Given the description of an element on the screen output the (x, y) to click on. 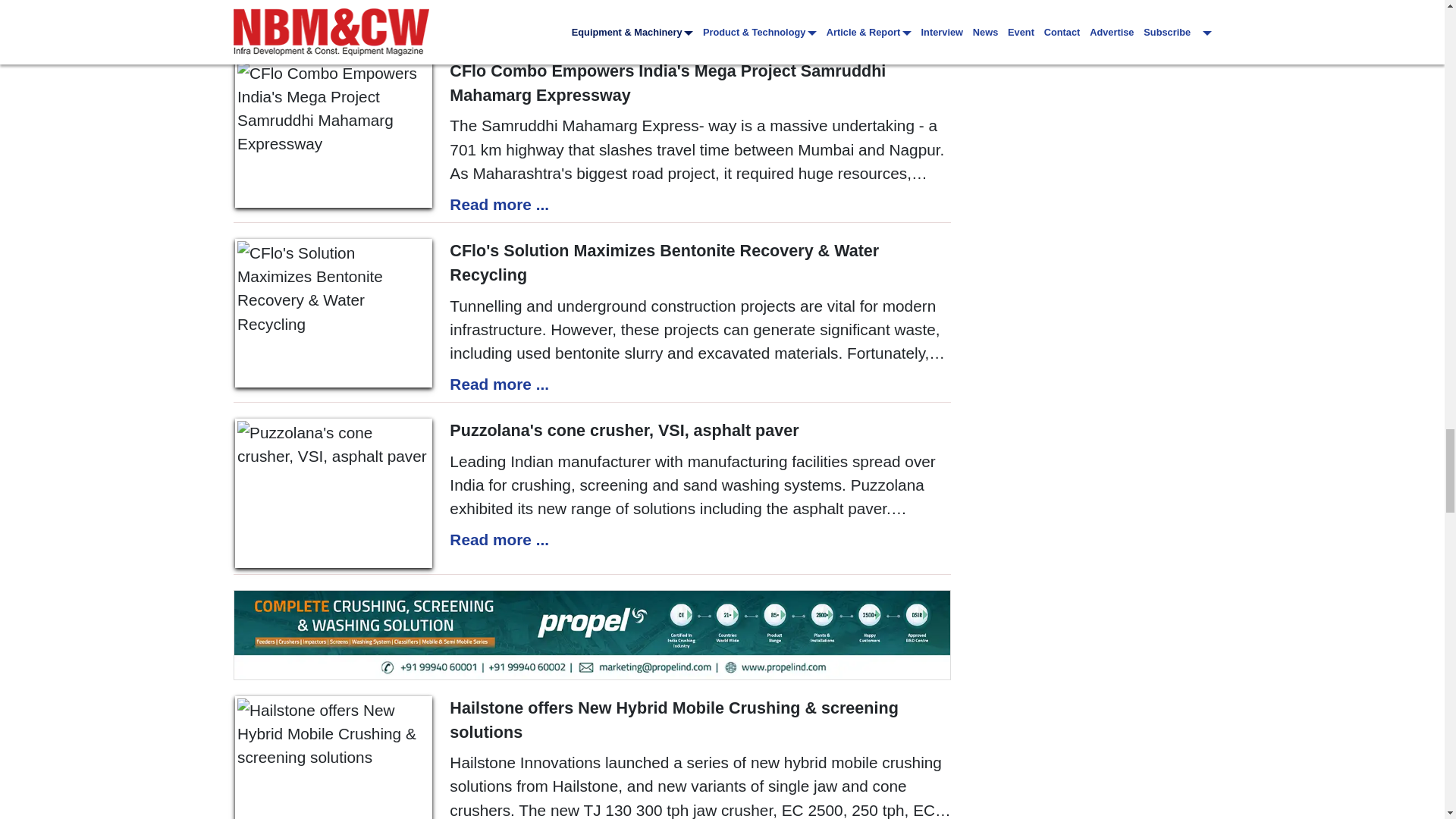
ACE - India's No. 1 CRANE BRAND (591, 21)
